Given the description of an element on the screen output the (x, y) to click on. 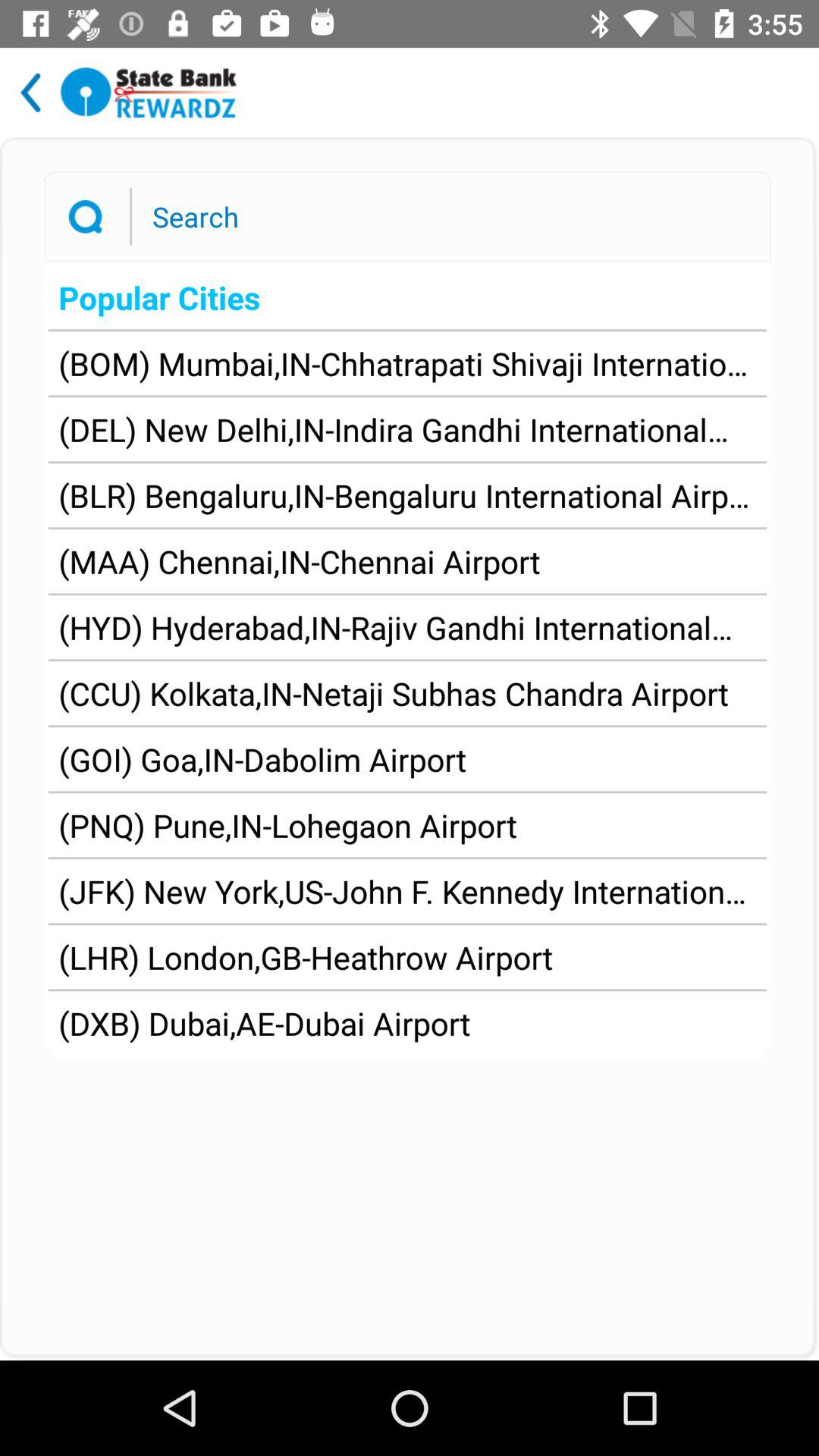
turn on the lhr london gb icon (305, 956)
